Given the description of an element on the screen output the (x, y) to click on. 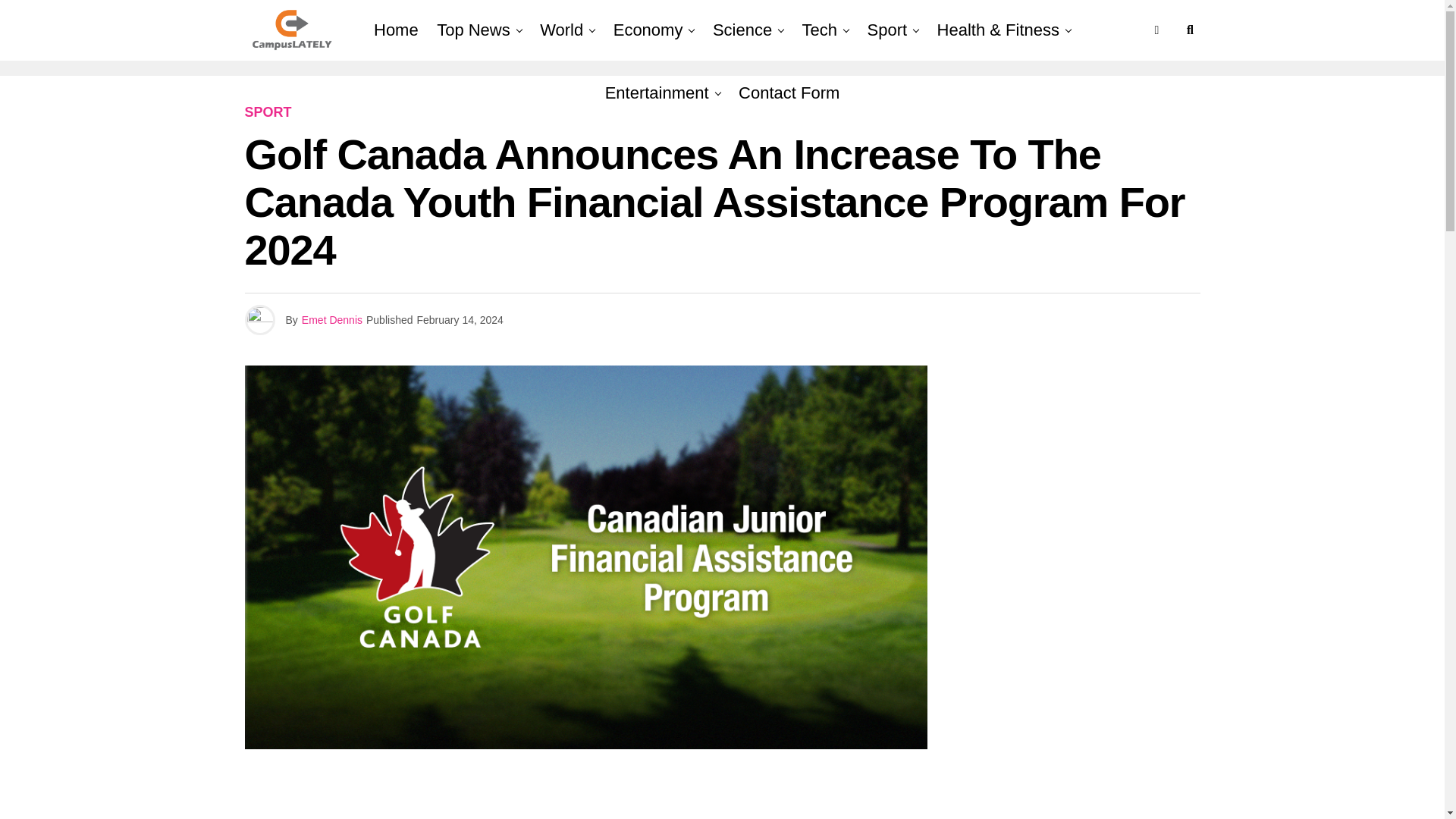
Sport (887, 30)
World (561, 30)
Top News (473, 30)
Home (396, 30)
Science (741, 30)
Economy (647, 30)
